Given the description of an element on the screen output the (x, y) to click on. 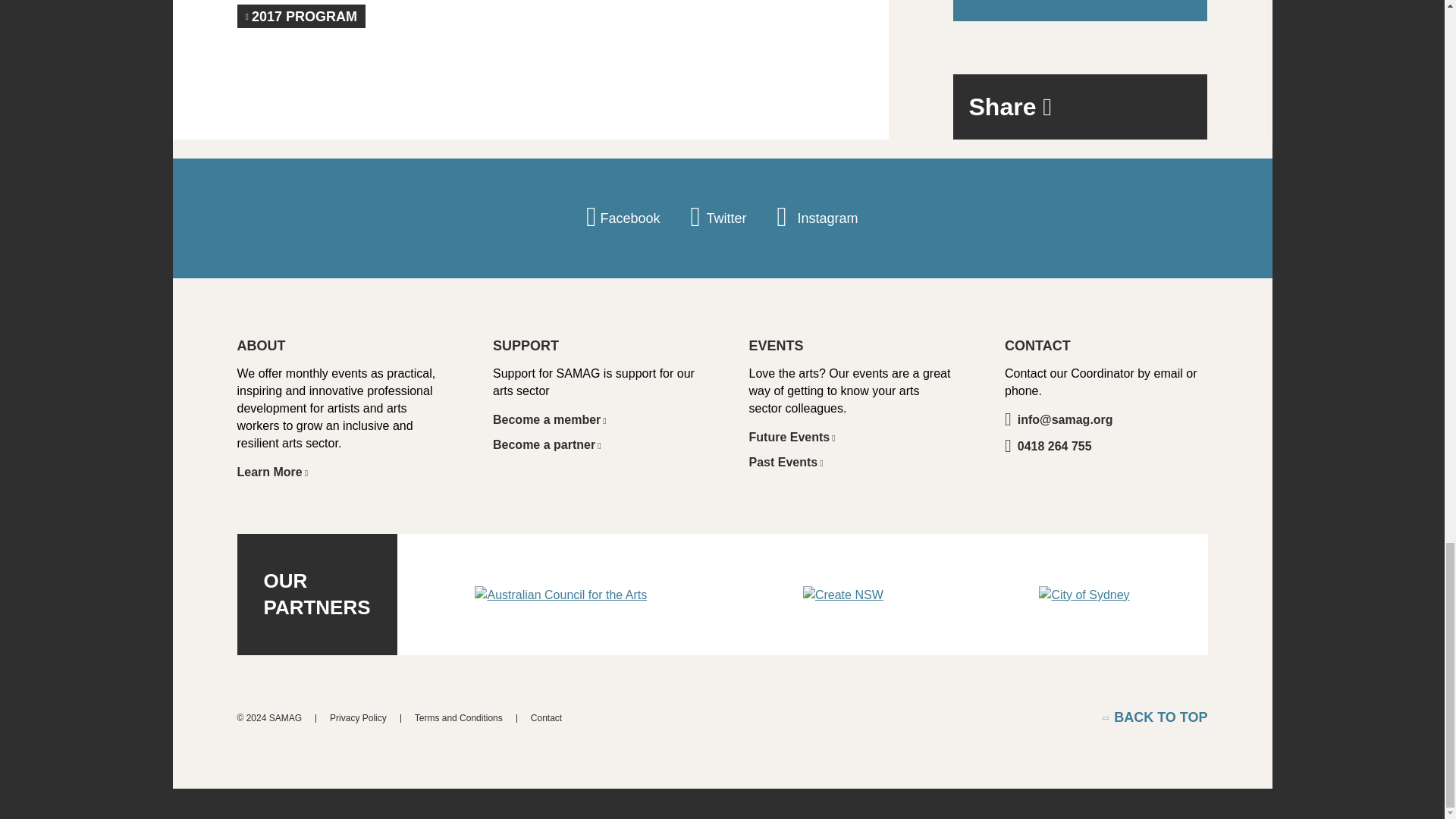
Instagram (816, 218)
Twitter (718, 218)
Facebook (622, 218)
